Given the description of an element on the screen output the (x, y) to click on. 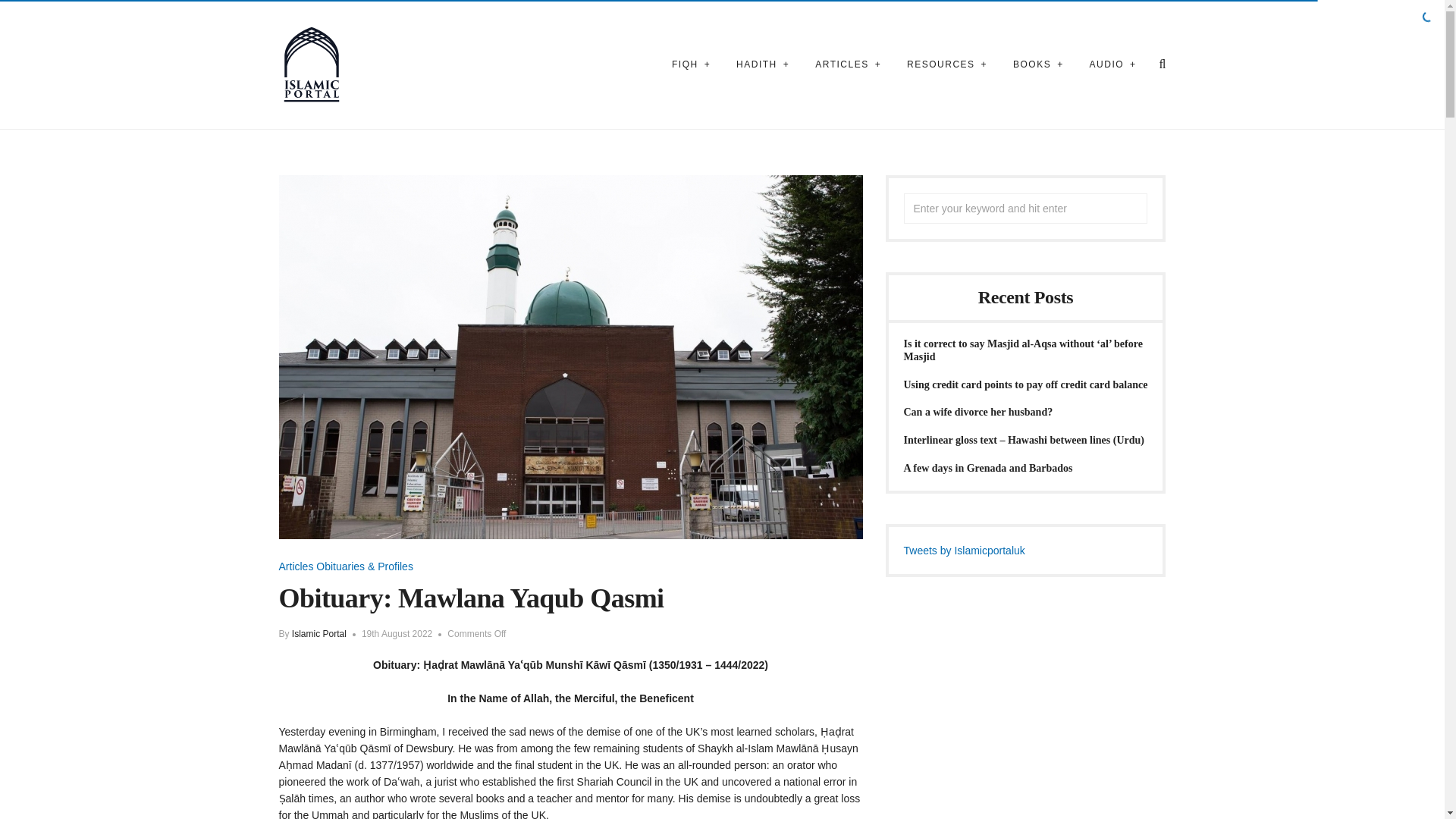
Posts by Islamic Portal (319, 633)
HADITH (762, 64)
ARTICLES (847, 64)
Search for: (1026, 208)
